Given the description of an element on the screen output the (x, y) to click on. 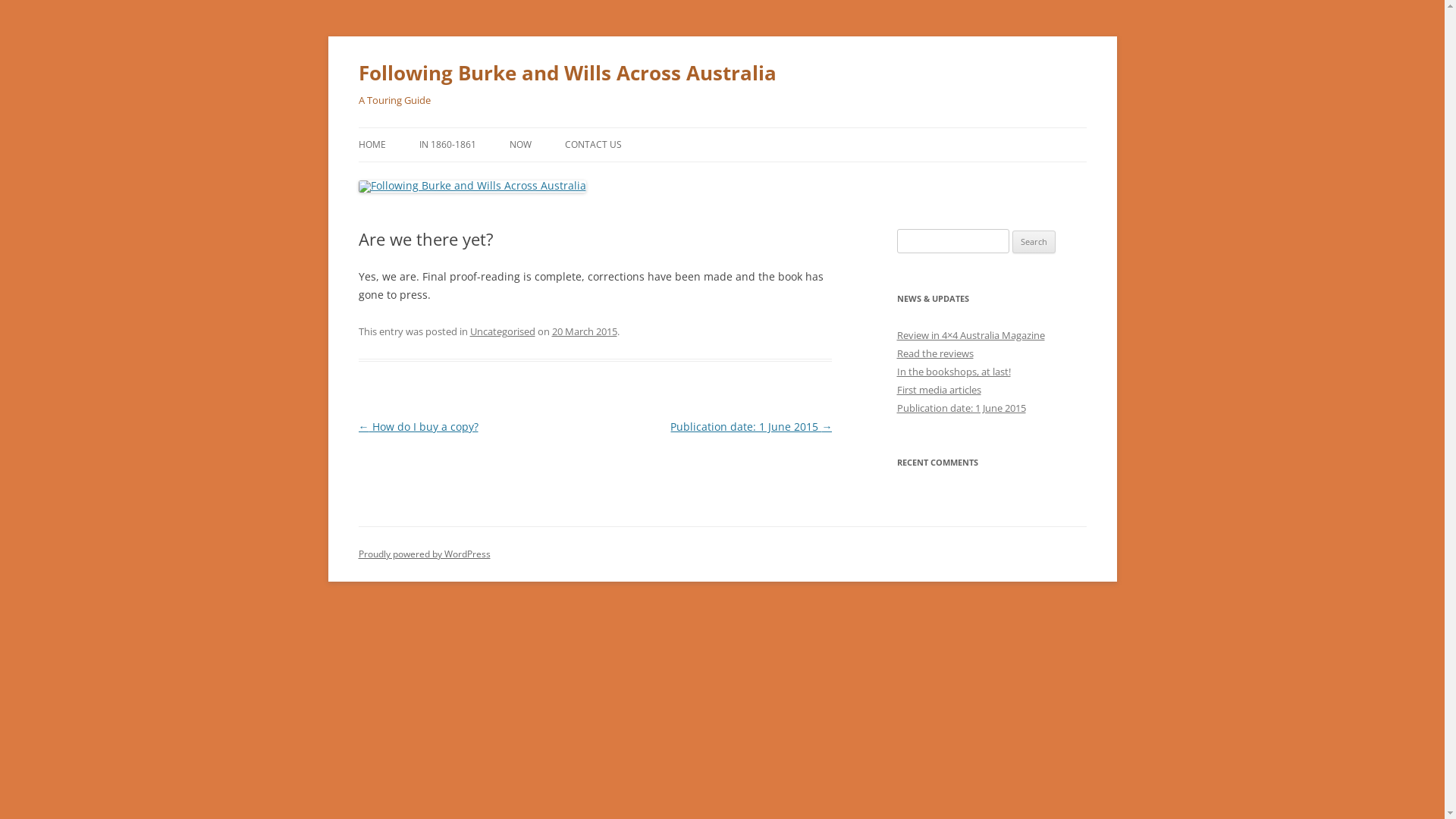
20 March 2015 Element type: text (584, 331)
First media articles Element type: text (938, 389)
IN 1860-1861 Element type: text (446, 144)
Following Burke and Wills Across Australia Element type: text (566, 72)
In the bookshops, at last! Element type: text (953, 371)
NOW Element type: text (520, 144)
Search Element type: text (1033, 241)
Skip to content Element type: text (721, 127)
Proudly powered by WordPress Element type: text (423, 553)
Uncategorised Element type: text (502, 331)
Publication date: 1 June 2015 Element type: text (960, 407)
Read the reviews Element type: text (934, 353)
HOME Element type: text (371, 144)
CONTACT US Element type: text (592, 144)
